Given the description of an element on the screen output the (x, y) to click on. 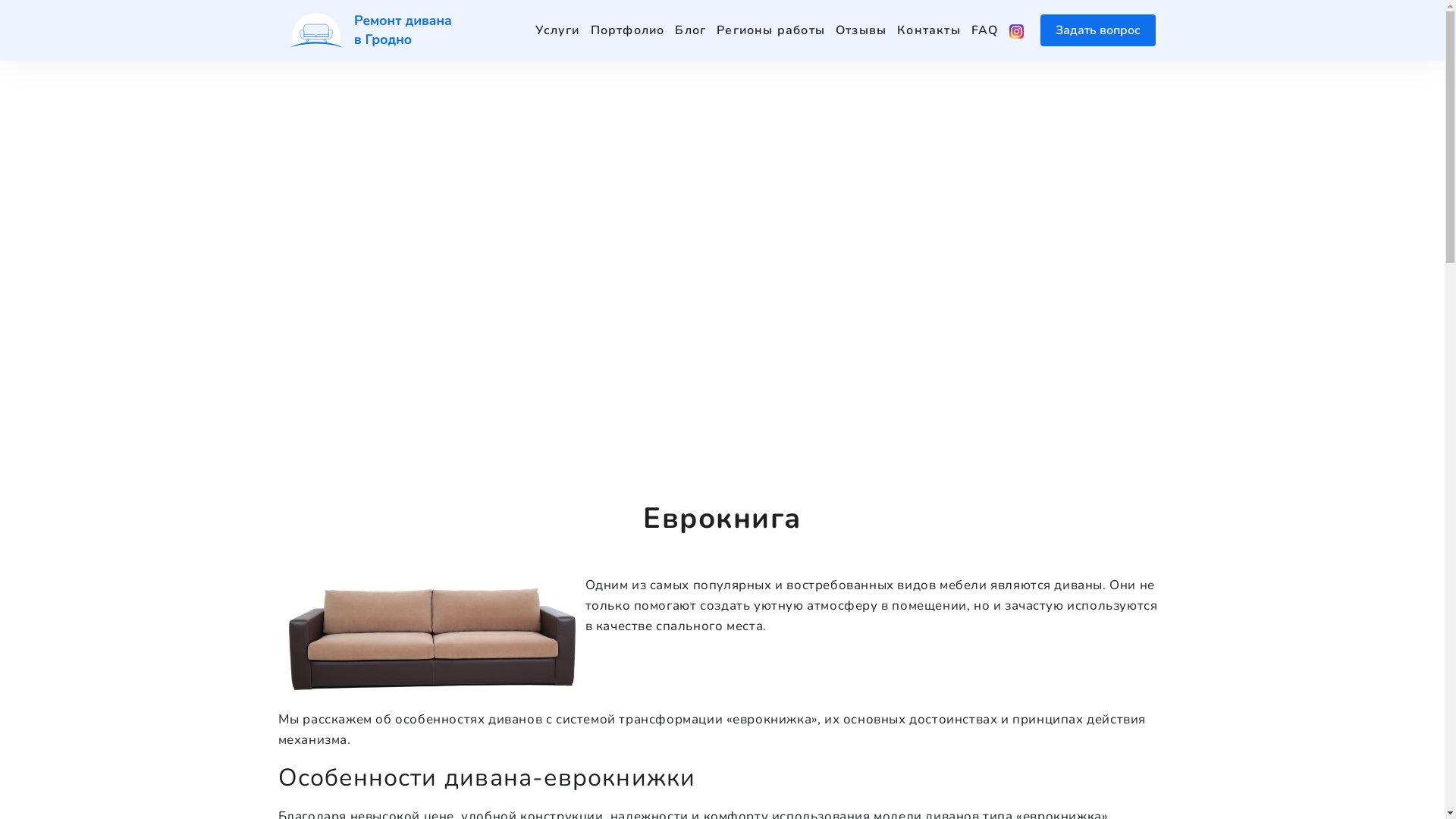
FAQ Element type: text (985, 30)
